Given the description of an element on the screen output the (x, y) to click on. 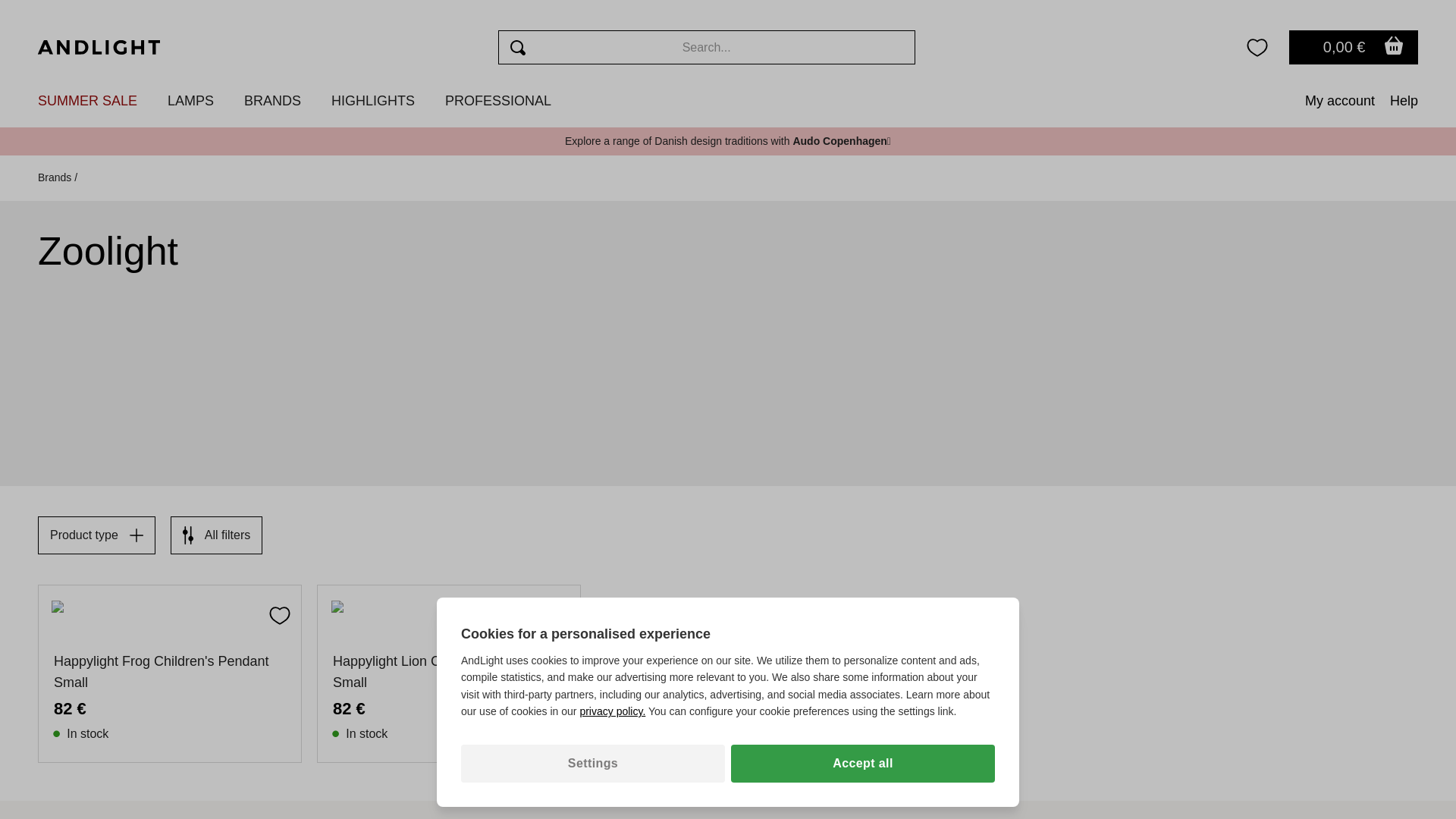
Happylight Lion Children's Pendant Small (448, 612)
Happylight Lion Children's Pendant Small (448, 671)
Andlight (98, 47)
Happylight Frog Children's Pendant Small (169, 612)
SUMMER SALE (86, 100)
Proceed to basket (1353, 47)
Happylight Frog Children's Pendant Small (169, 671)
